Given the description of an element on the screen output the (x, y) to click on. 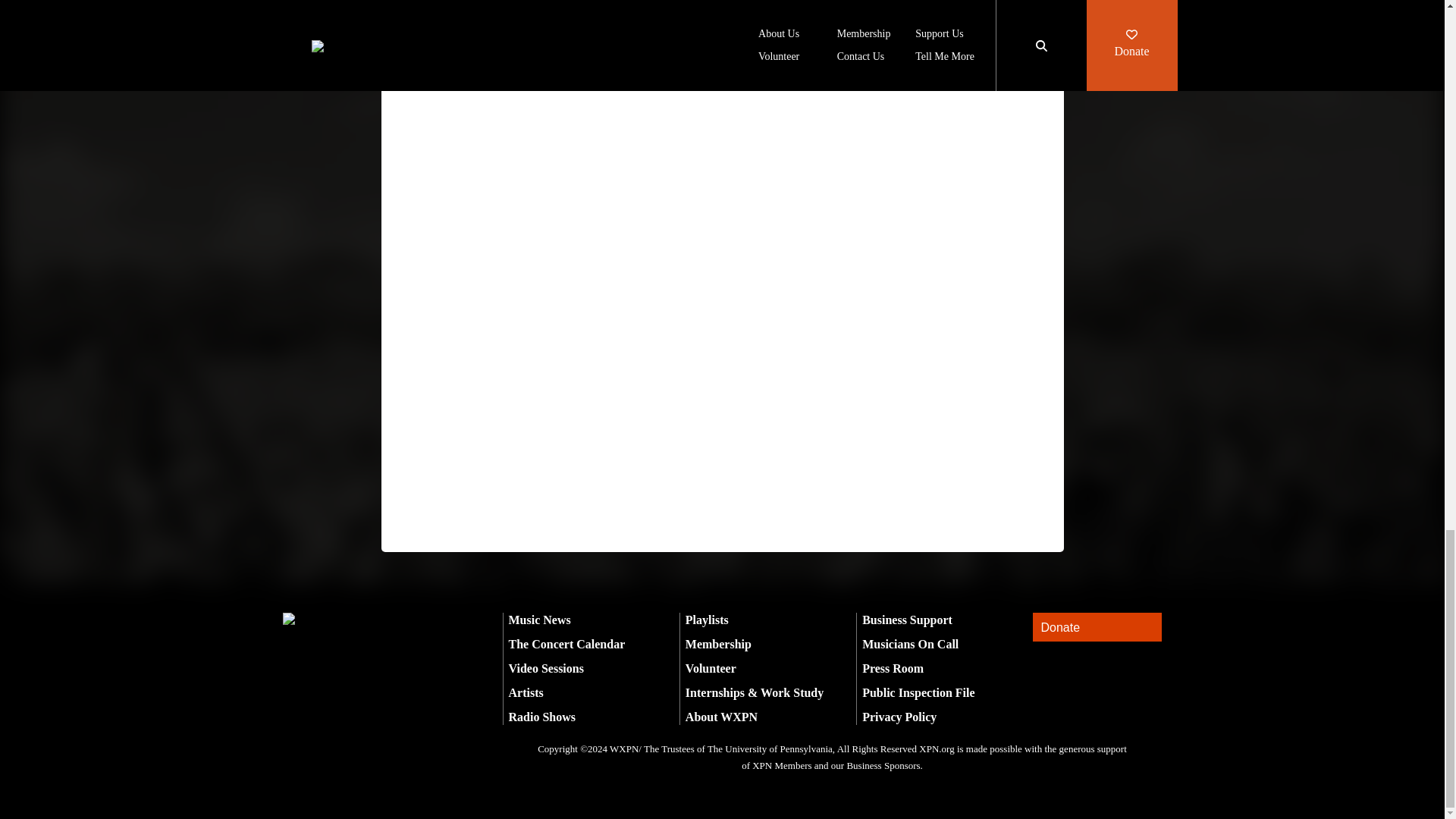
Public Inspection File (917, 692)
Artists (525, 692)
Membership (718, 644)
Playlists (707, 619)
Business Support (906, 619)
Video Sessions (545, 667)
Musicians On Call (909, 644)
Privacy Policy (898, 716)
Music News (539, 619)
Radio Shows (541, 716)
